Given the description of an element on the screen output the (x, y) to click on. 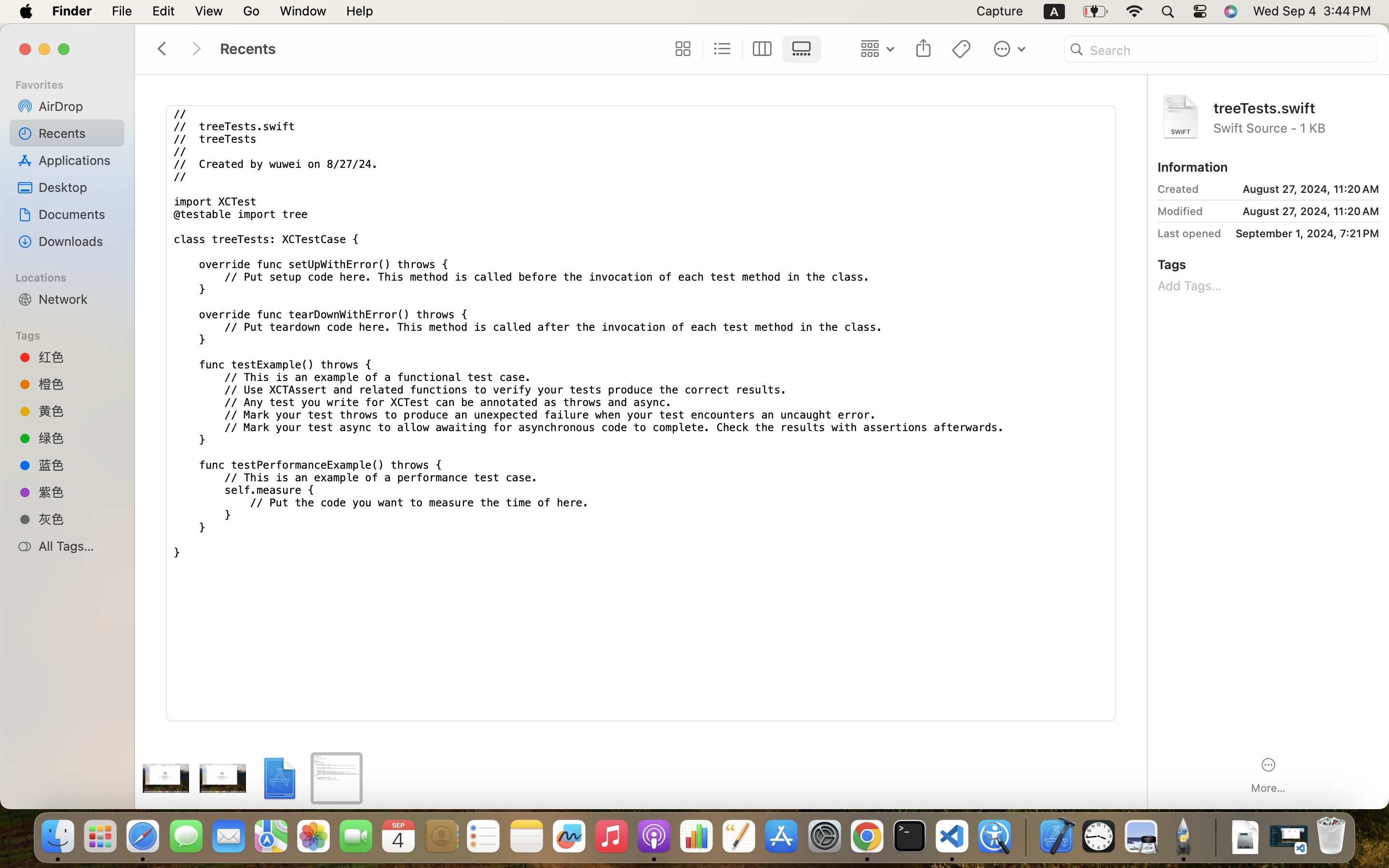
紫色 Element type: AXStaticText (77, 491)
Documents Element type: AXStaticText (77, 213)
绿色 Element type: AXStaticText (77, 437)
AirDrop Element type: AXStaticText (77, 105)
灰色 Element type: AXStaticText (77, 518)
